Given the description of an element on the screen output the (x, y) to click on. 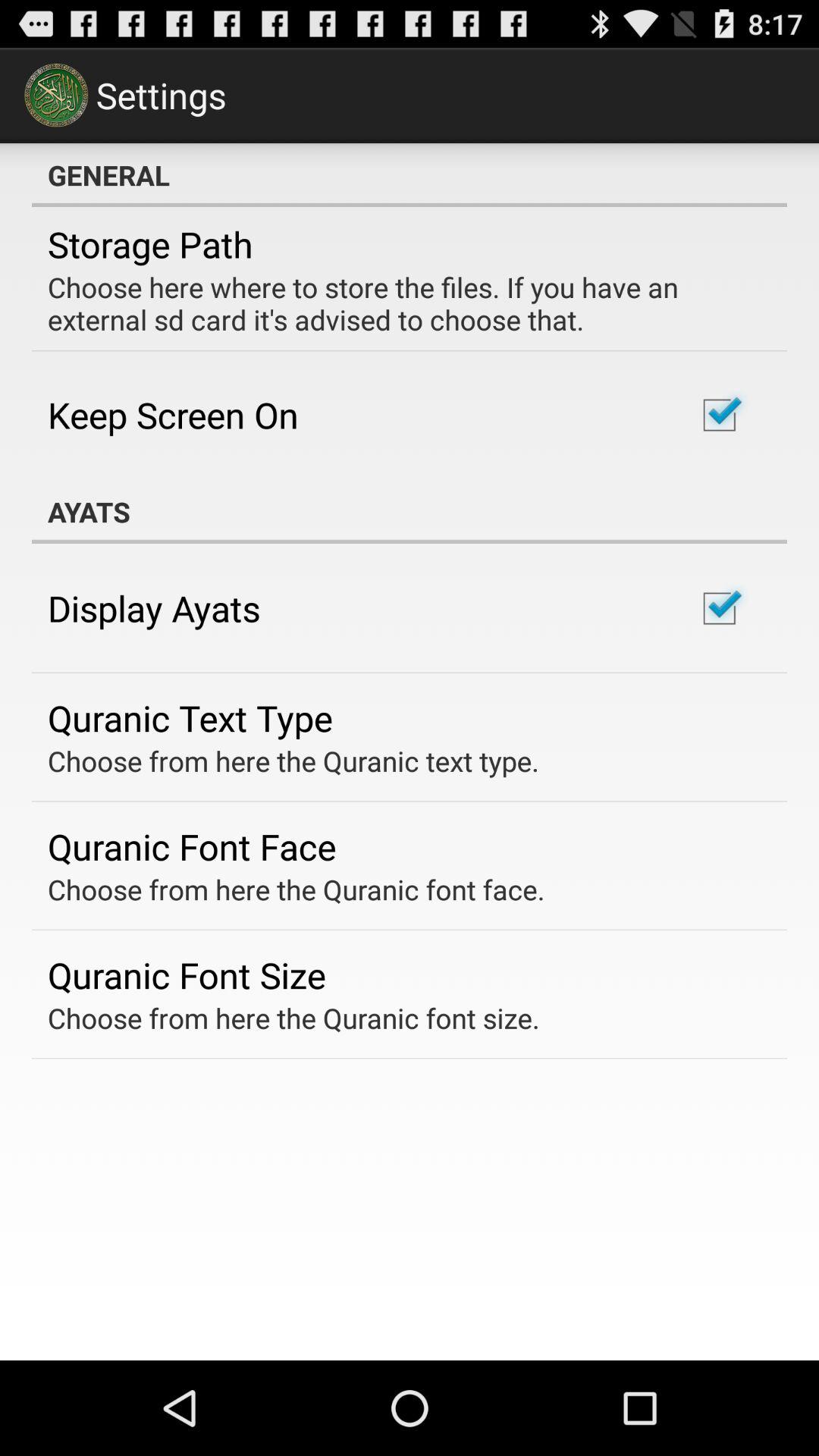
select keep screen on app (172, 414)
